Given the description of an element on the screen output the (x, y) to click on. 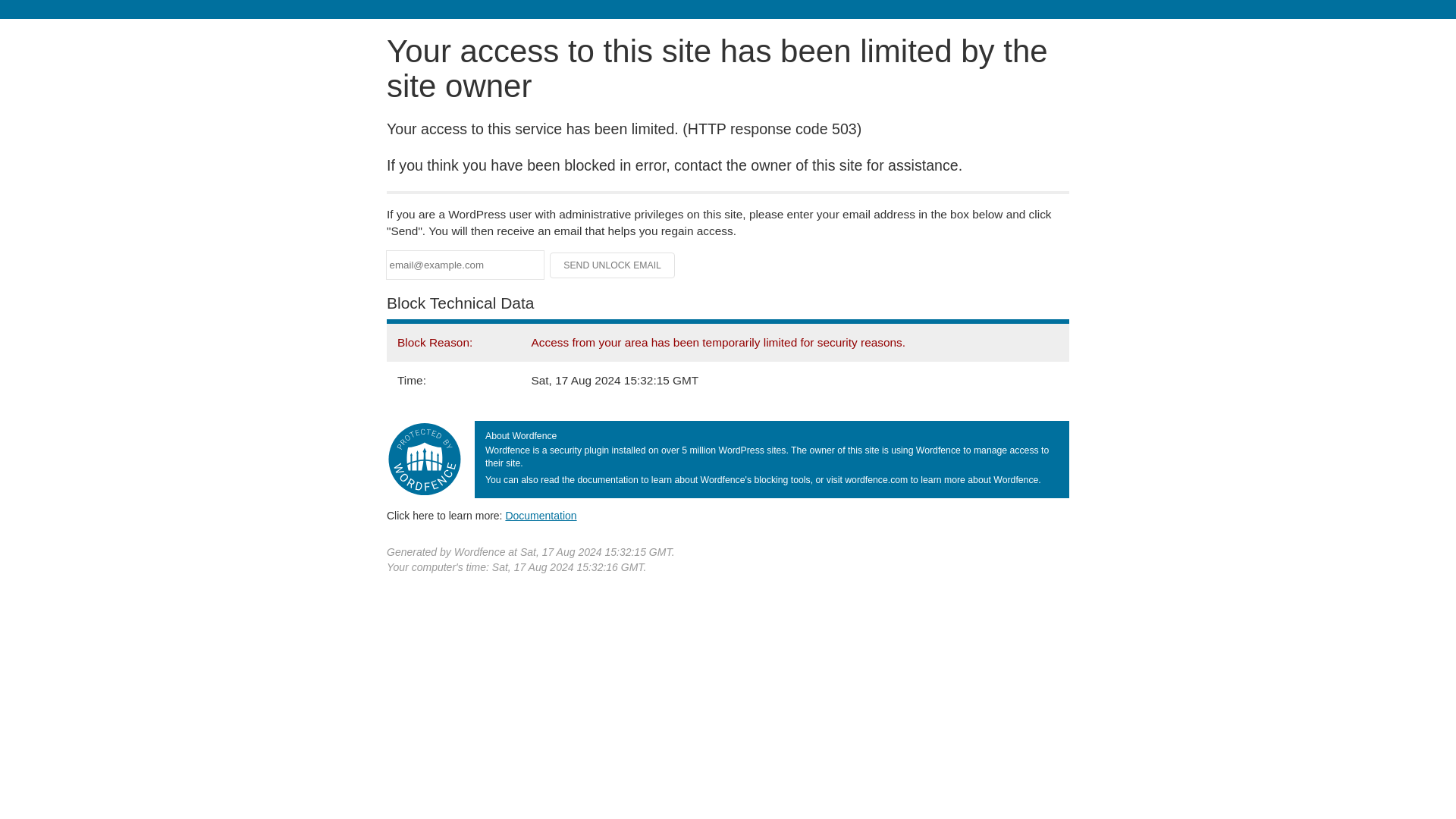
Send Unlock Email (612, 265)
Send Unlock Email (612, 265)
Documentation (540, 515)
